Given the description of an element on the screen output the (x, y) to click on. 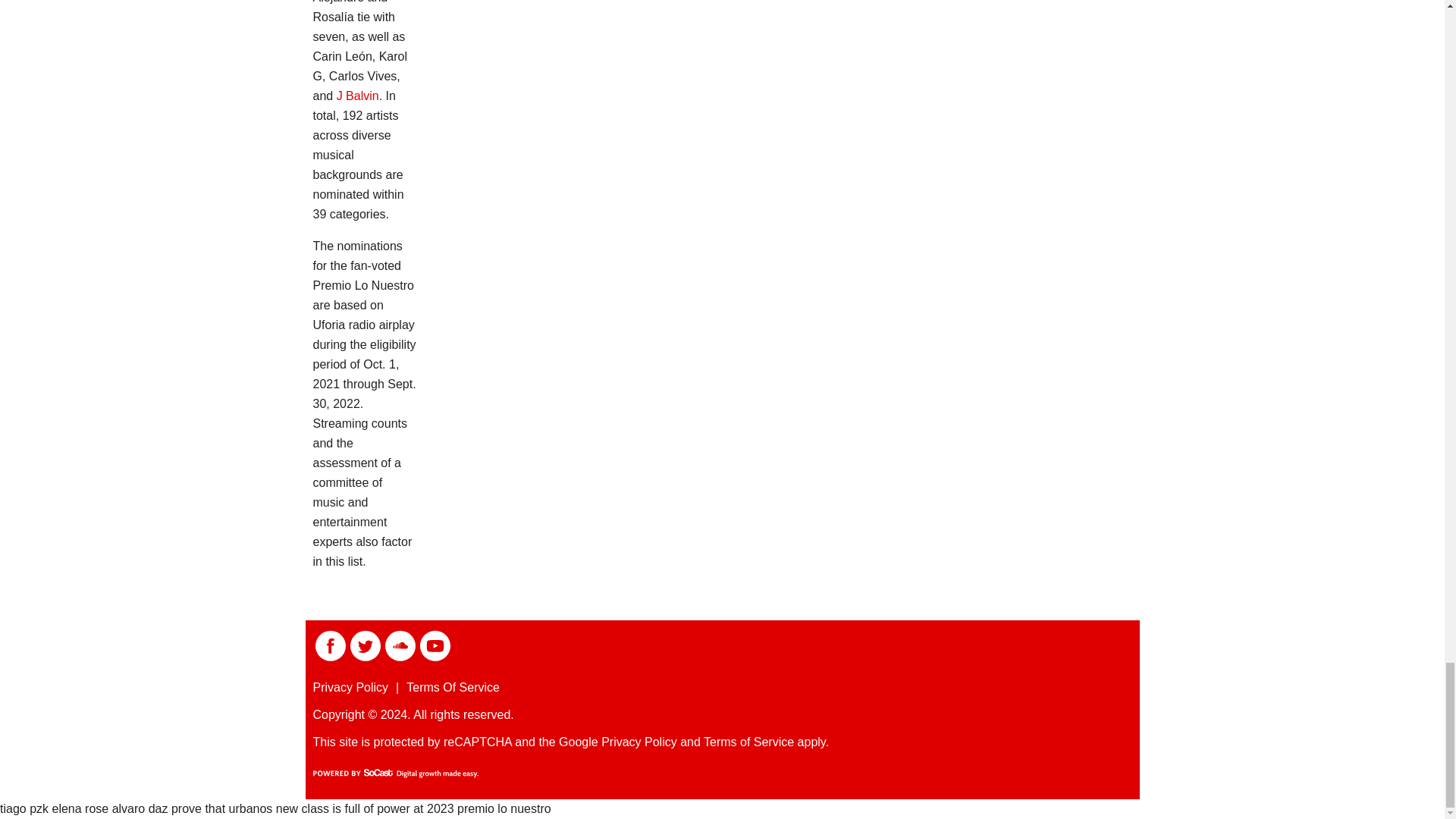
Powered By SoCast (395, 773)
J Balvin (357, 95)
